Given the description of an element on the screen output the (x, y) to click on. 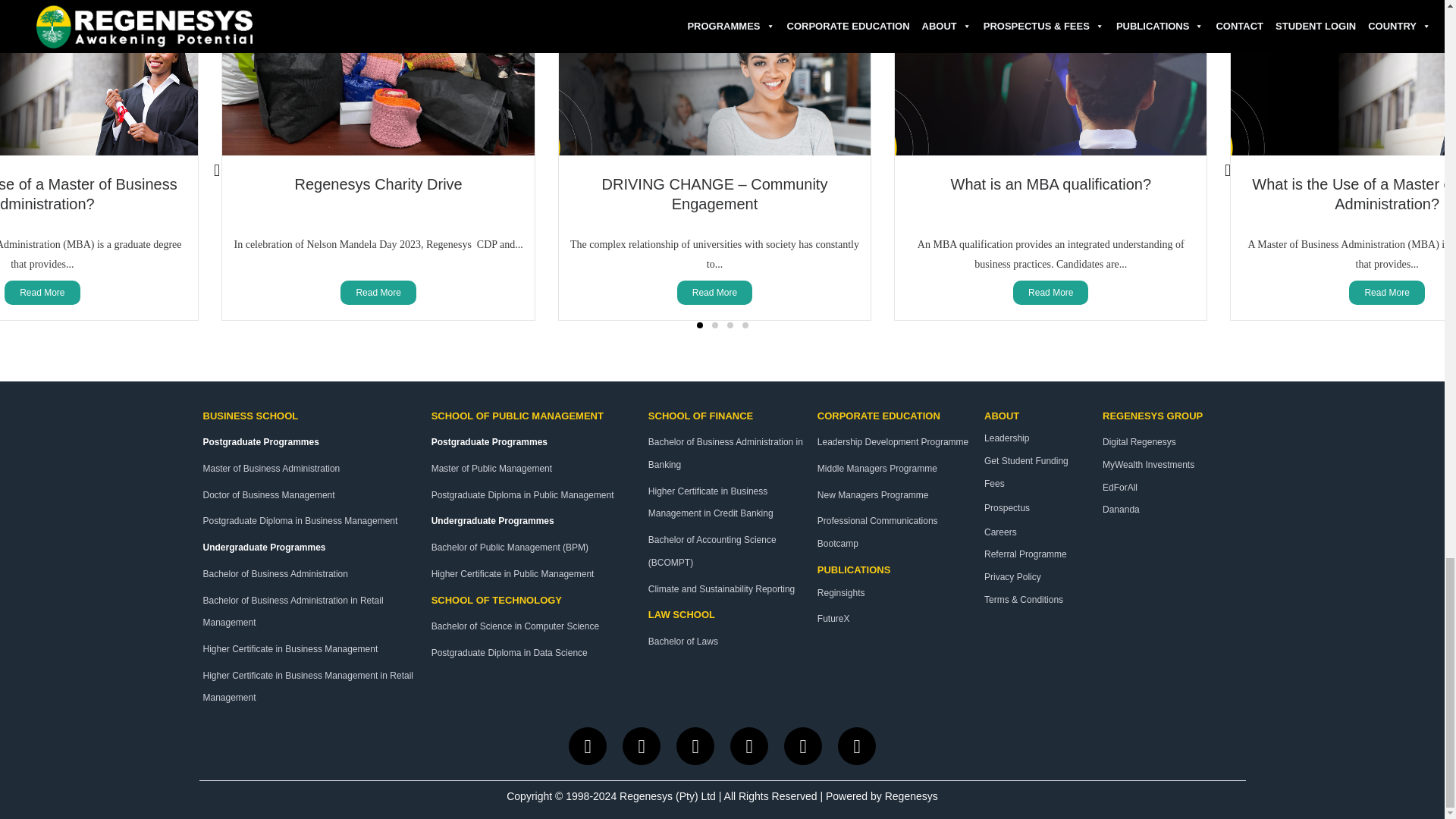
What is the Use of a Master of Business Administration? (1354, 194)
What is an MBA qualification? (1050, 184)
Regenesys Charity Drive (379, 184)
What is the Use of a Master of Business Administration? (88, 194)
